Given the description of an element on the screen output the (x, y) to click on. 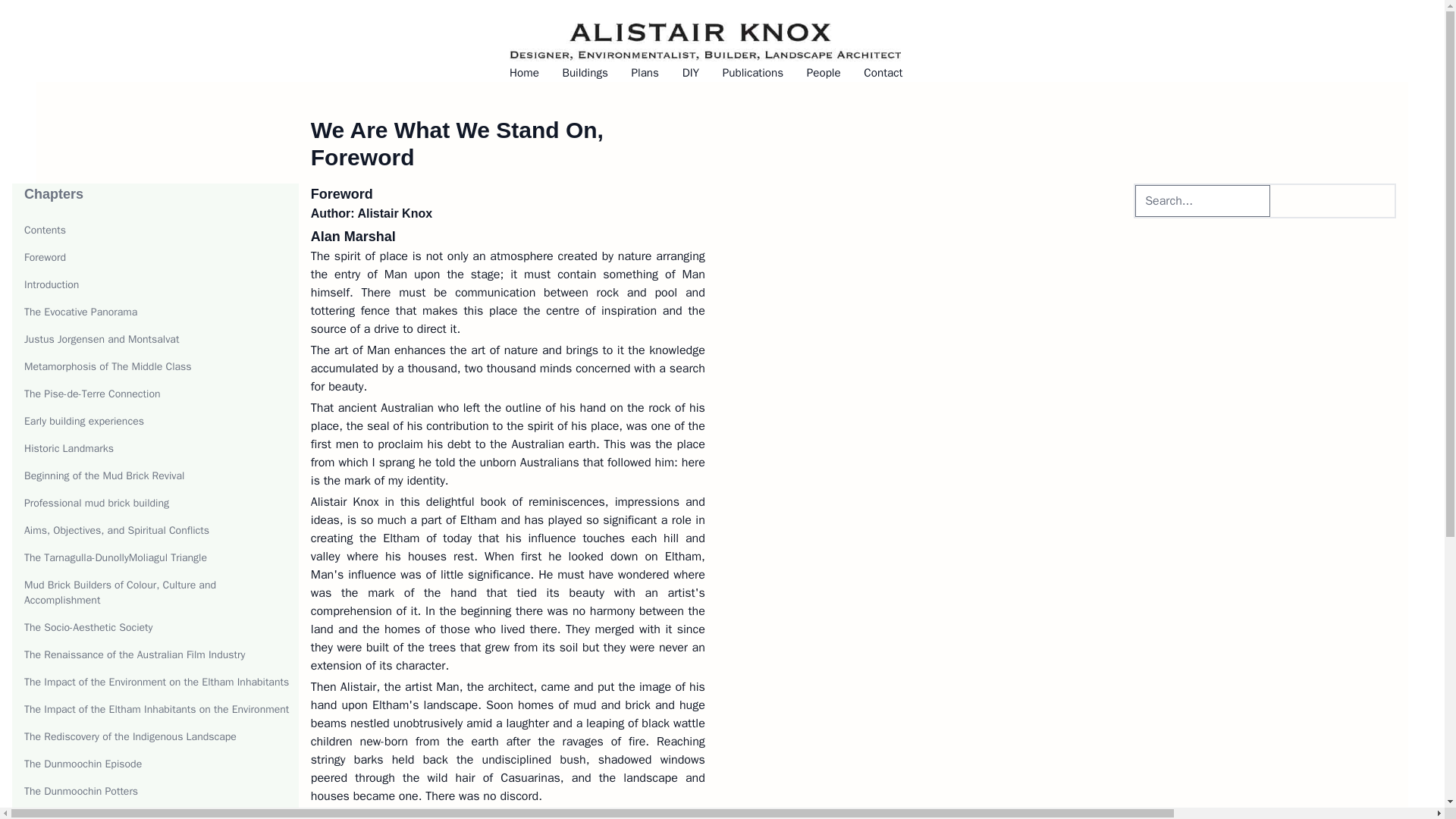
Early building experiences (84, 420)
Aims, Objectives, and Spiritual Conflicts (116, 530)
Contact (882, 72)
The Pise-de-Terre Connection (92, 393)
Introduction (51, 284)
Foreword (44, 256)
DIY (690, 72)
The Evocative Panorama (80, 311)
Beginning of the Mud Brick Revival (104, 475)
Metamorphosis of The Middle Class (108, 366)
The Socio-Aesthetic Society (88, 626)
The Rediscovery of the Indigenous Landscape (129, 736)
The Impact of the Environment on the Eltham Inhabitants (156, 681)
People (823, 72)
